Given the description of an element on the screen output the (x, y) to click on. 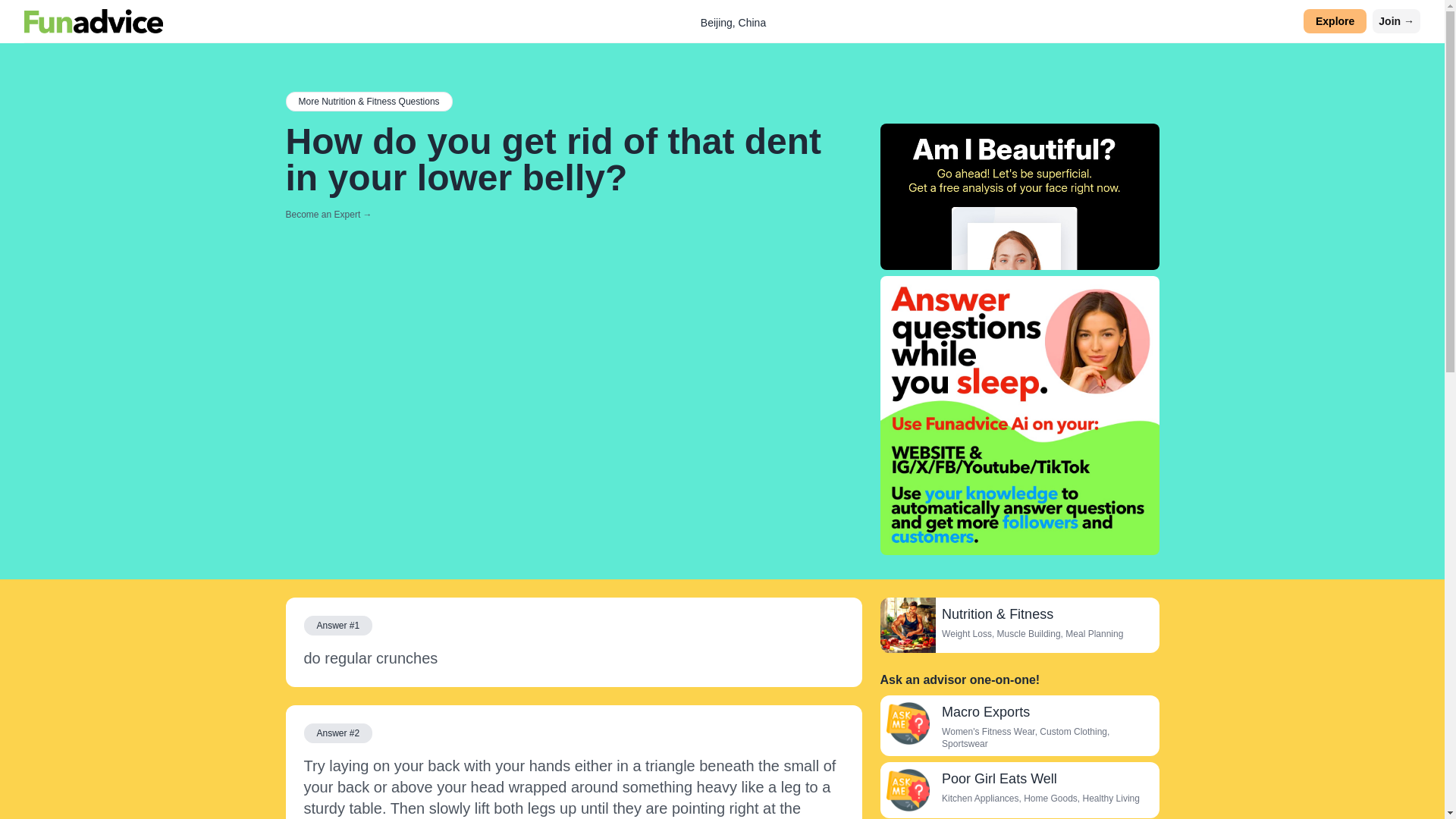
Explore (1335, 21)
Beijing, China (732, 22)
Macro Exports (985, 711)
Poor Girl Eats Well (999, 778)
Poor Girl Eats Well (907, 790)
Funadvice Home (93, 21)
Macro Exports (907, 723)
